Given the description of an element on the screen output the (x, y) to click on. 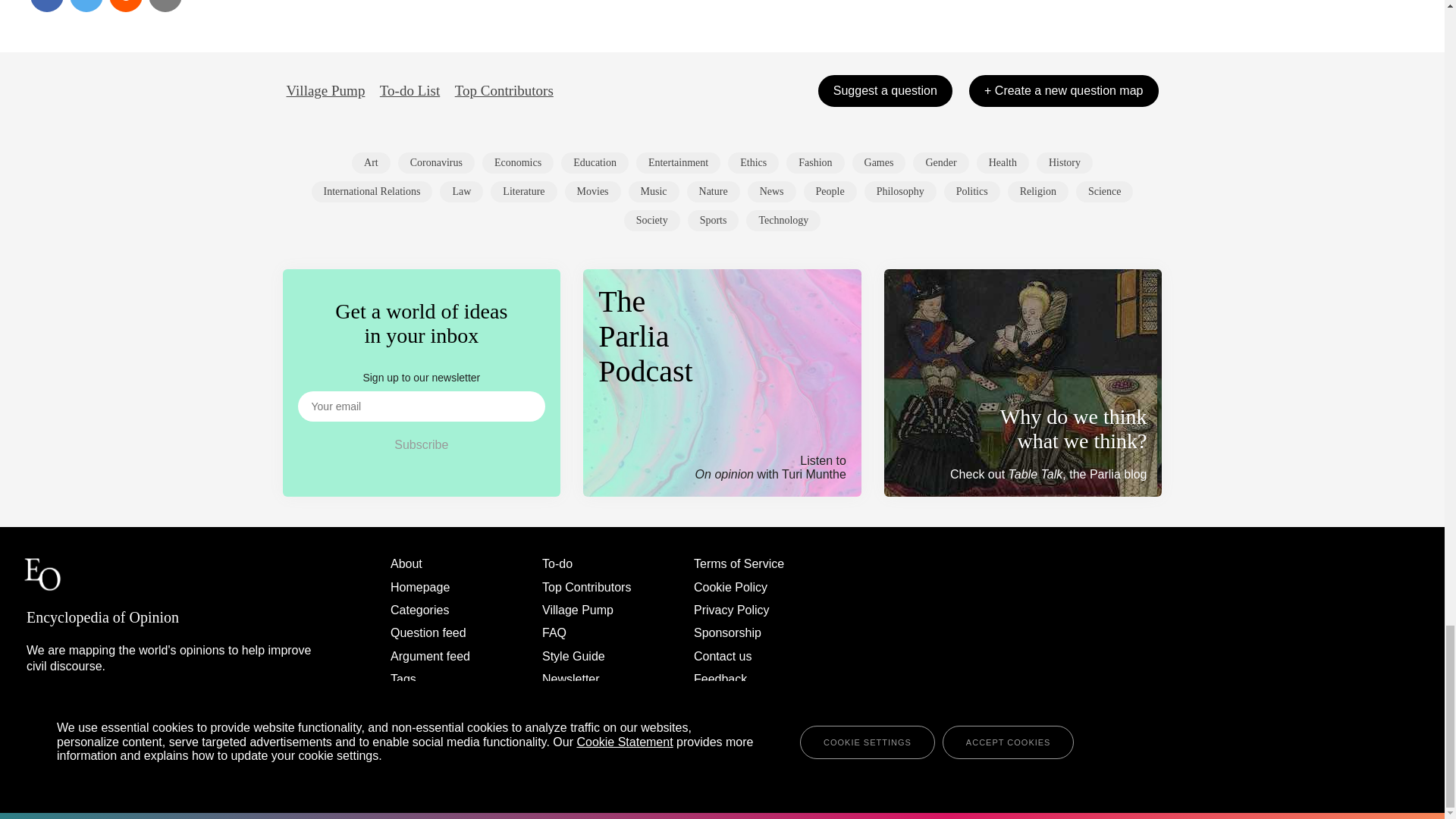
Category item (523, 191)
Category item (678, 162)
Category item (753, 162)
Category item (371, 191)
Category item (371, 162)
Category item (1002, 162)
Category item (594, 162)
Category item (1064, 162)
Category item (461, 191)
Category item (517, 162)
Category item (815, 162)
Category item (940, 162)
Category item (435, 162)
Category item (592, 191)
Category item (878, 162)
